Given the description of an element on the screen output the (x, y) to click on. 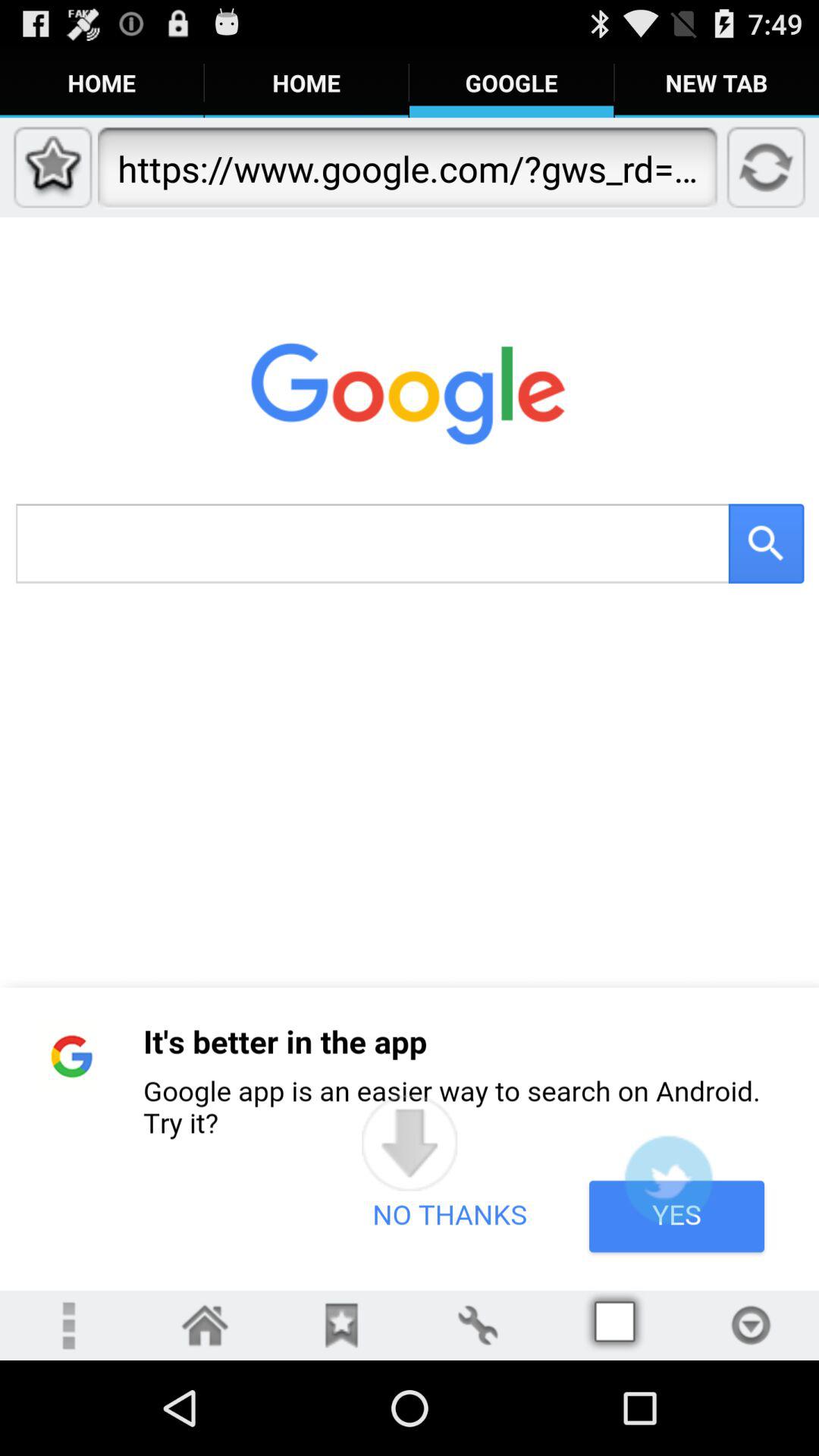
go to the download history (750, 1325)
